Given the description of an element on the screen output the (x, y) to click on. 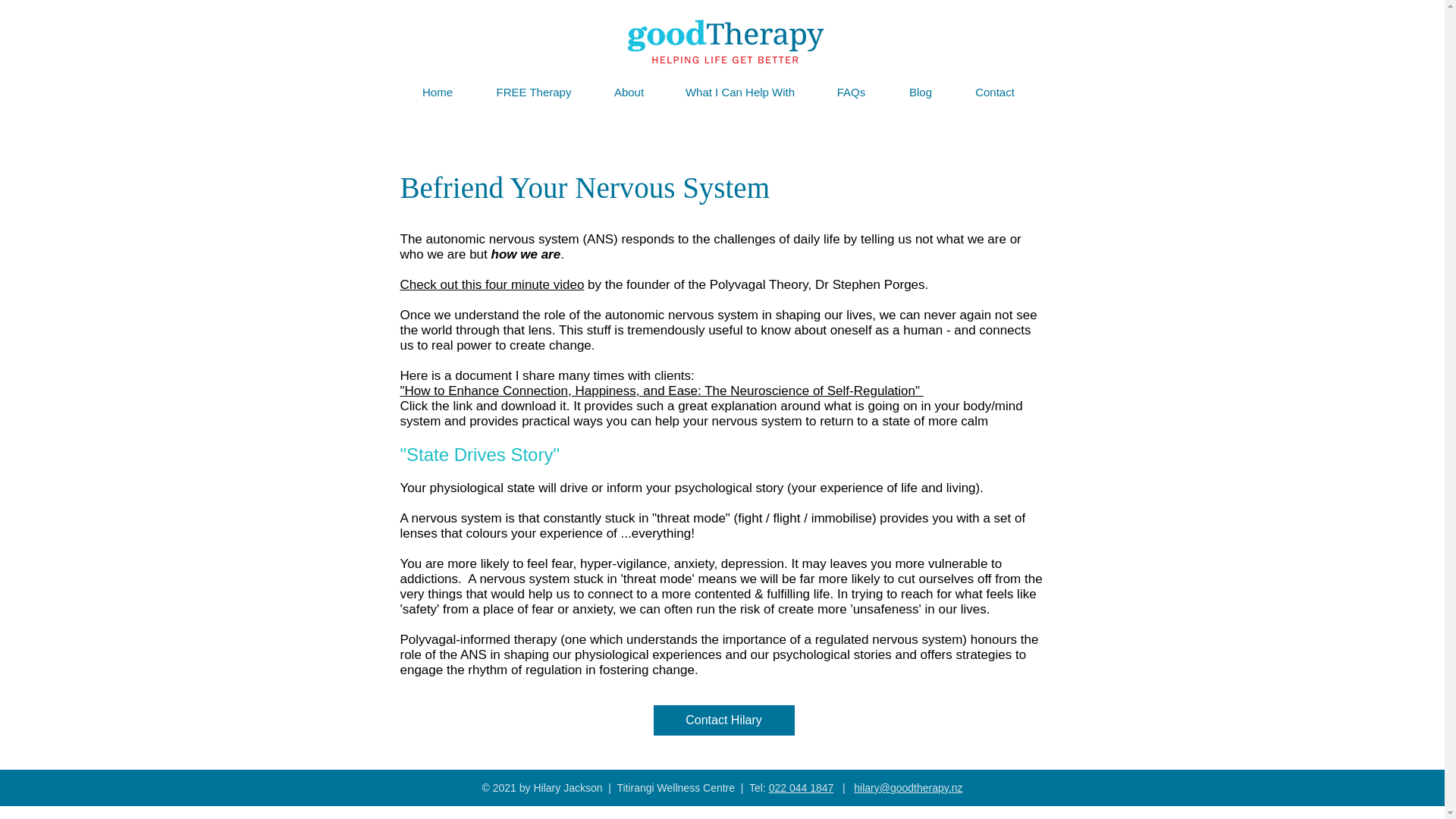
FAQs (849, 91)
Blog (919, 91)
022 044 1847 (801, 787)
Contact (994, 91)
FREE Therapy (533, 91)
Home (438, 91)
document I share many times with clients:  (575, 375)
Check out this four minute video (492, 284)
Contact Hilary (723, 720)
